Given the description of an element on the screen output the (x, y) to click on. 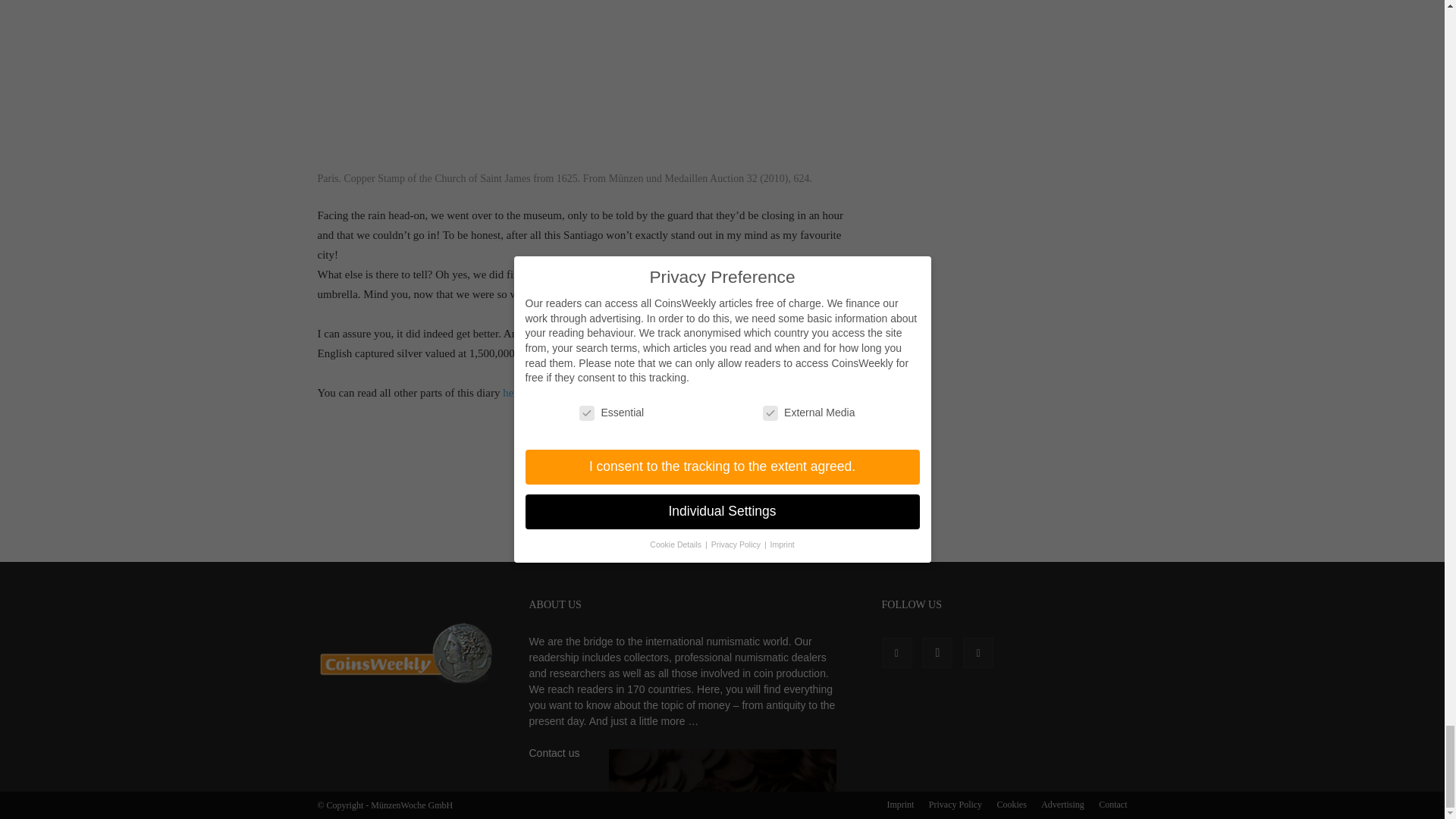
Instagram (936, 653)
CoinsWeekly.com (404, 652)
Youtube (977, 653)
Facebook (895, 653)
